Given the description of an element on the screen output the (x, y) to click on. 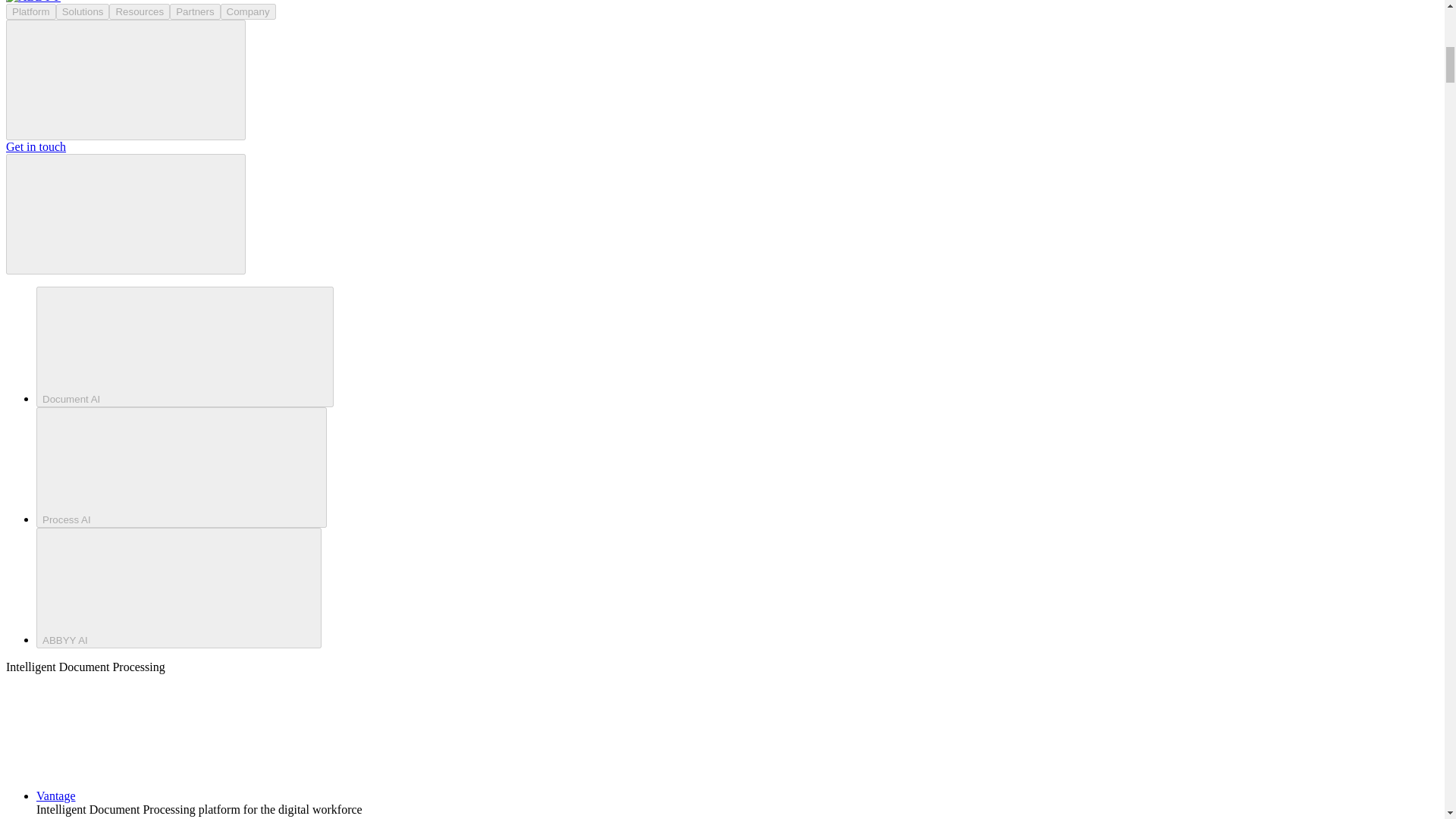
ABBYY AI (178, 587)
Resources (139, 11)
Process AI (181, 467)
Vantage (169, 795)
Company (248, 11)
Get in touch (35, 146)
Document AI (184, 346)
Solutions (83, 11)
Platform (30, 11)
Partners (194, 11)
